Given the description of an element on the screen output the (x, y) to click on. 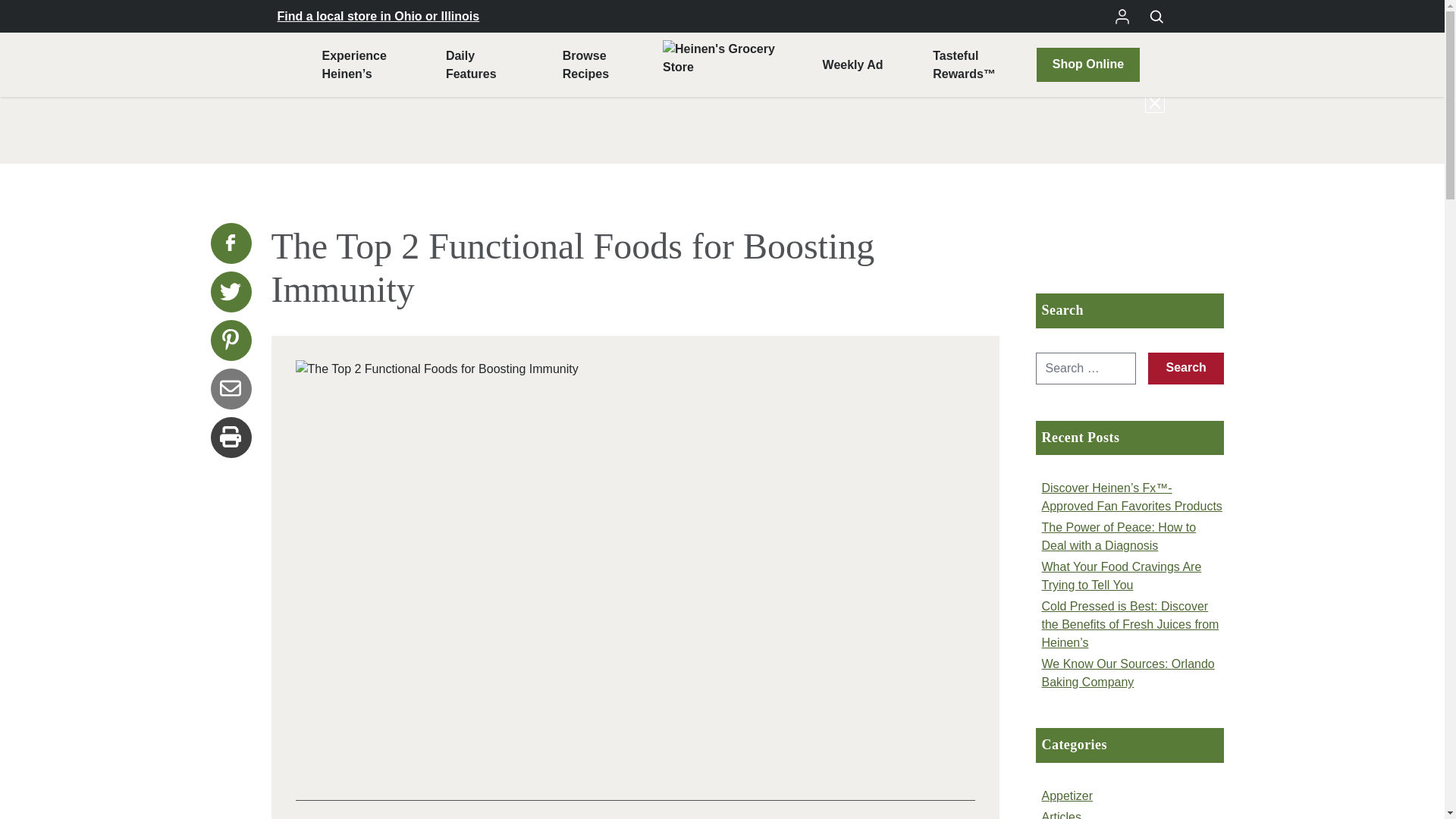
Shop Online (585, 64)
Weekly Ad (1087, 64)
Find a local store in Ohio or Illinois (853, 64)
